Given the description of an element on the screen output the (x, y) to click on. 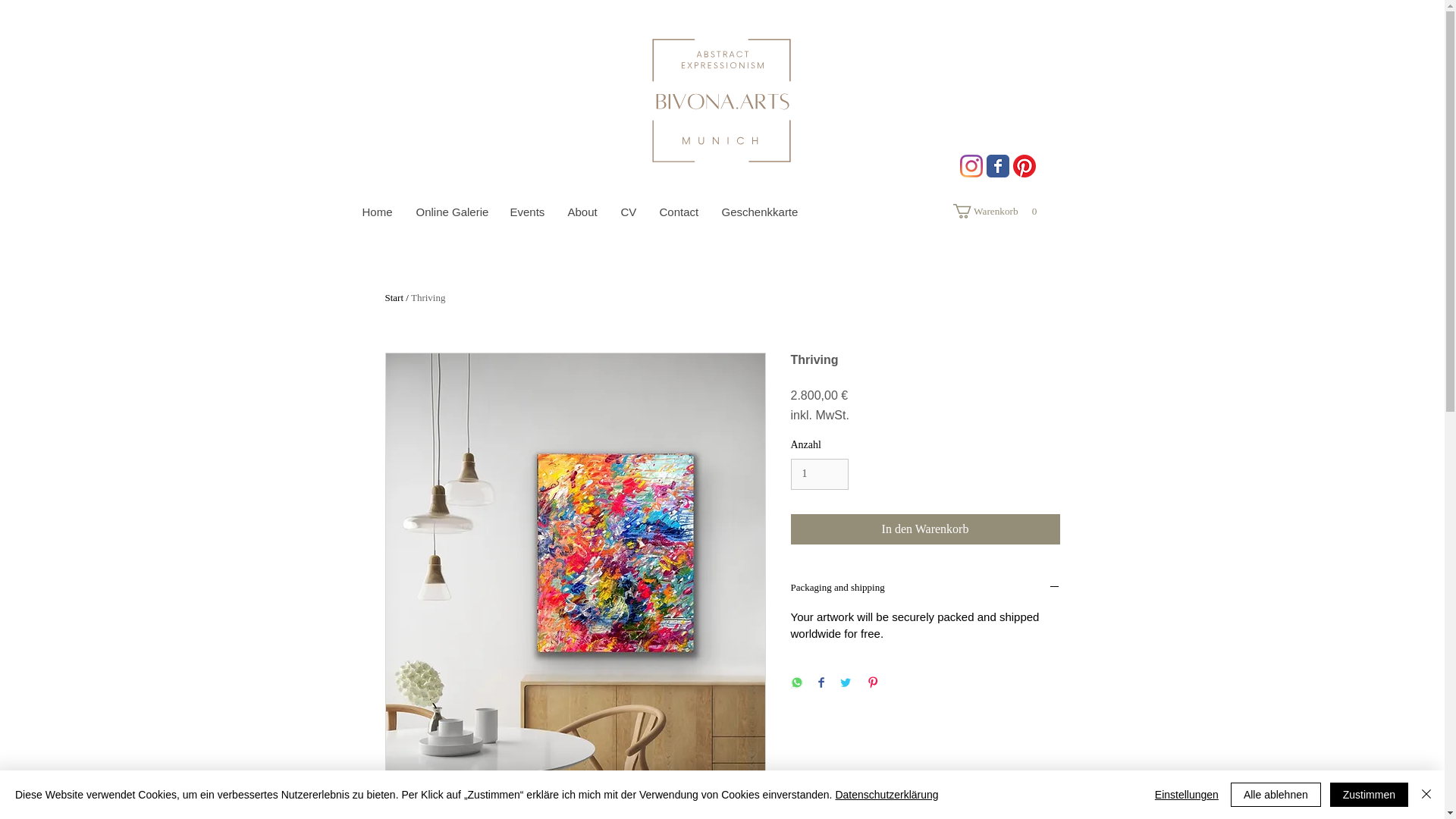
Online Galerie (450, 211)
Geschenkkarte (997, 210)
About (759, 211)
Home (997, 210)
Packaging and shipping (581, 211)
1 (376, 211)
Events (924, 588)
Contact (818, 473)
